Given the description of an element on the screen output the (x, y) to click on. 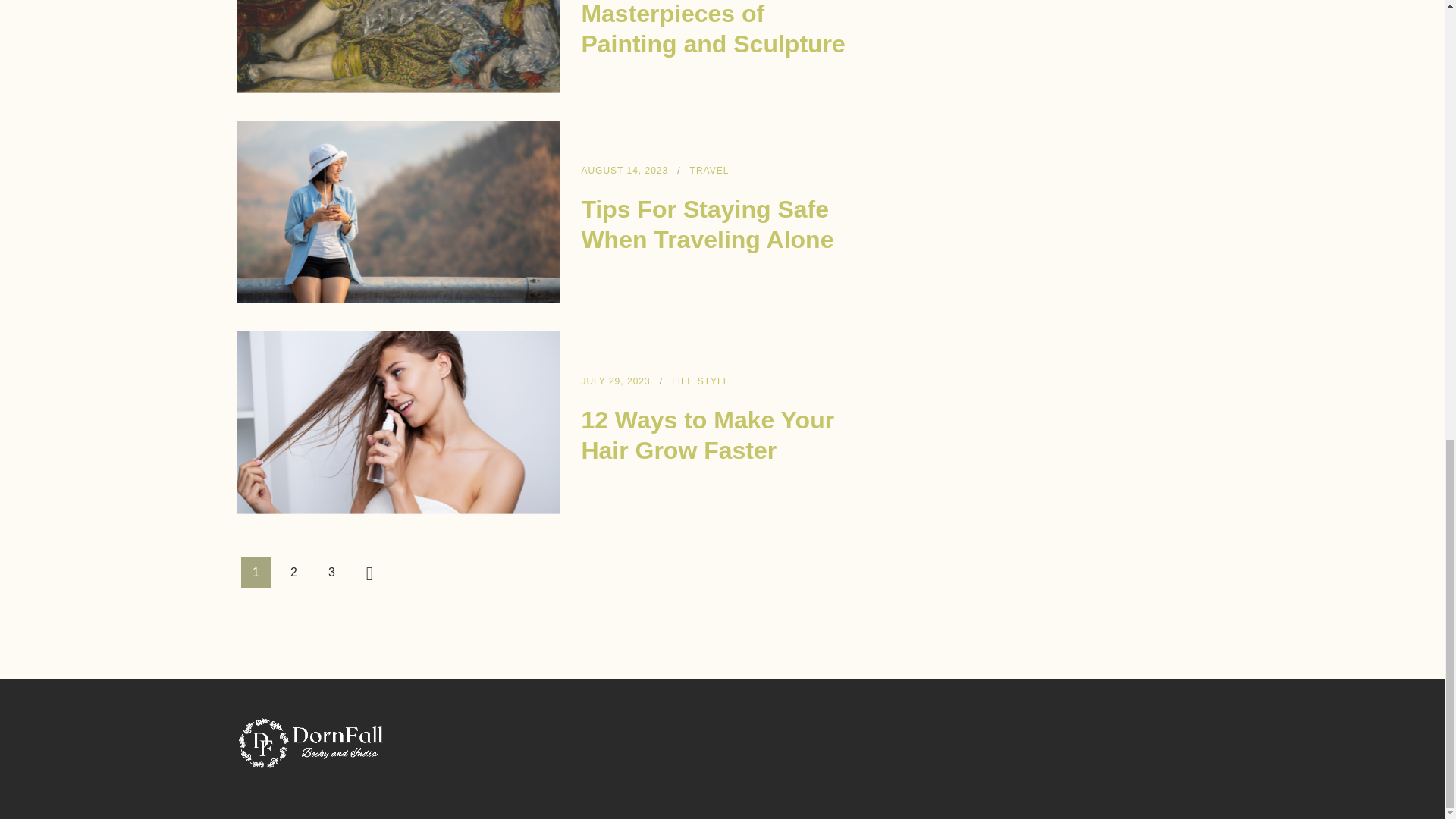
TRAVEL (709, 170)
2 (293, 572)
AUGUST 14, 2023 (624, 170)
12 Ways to Make Your Hair Grow Faster (707, 435)
3 (332, 572)
JULY 29, 2023 (614, 381)
Tips For Staying Safe When Traveling Alone (706, 224)
LIFE STYLE (700, 381)
